Given the description of an element on the screen output the (x, y) to click on. 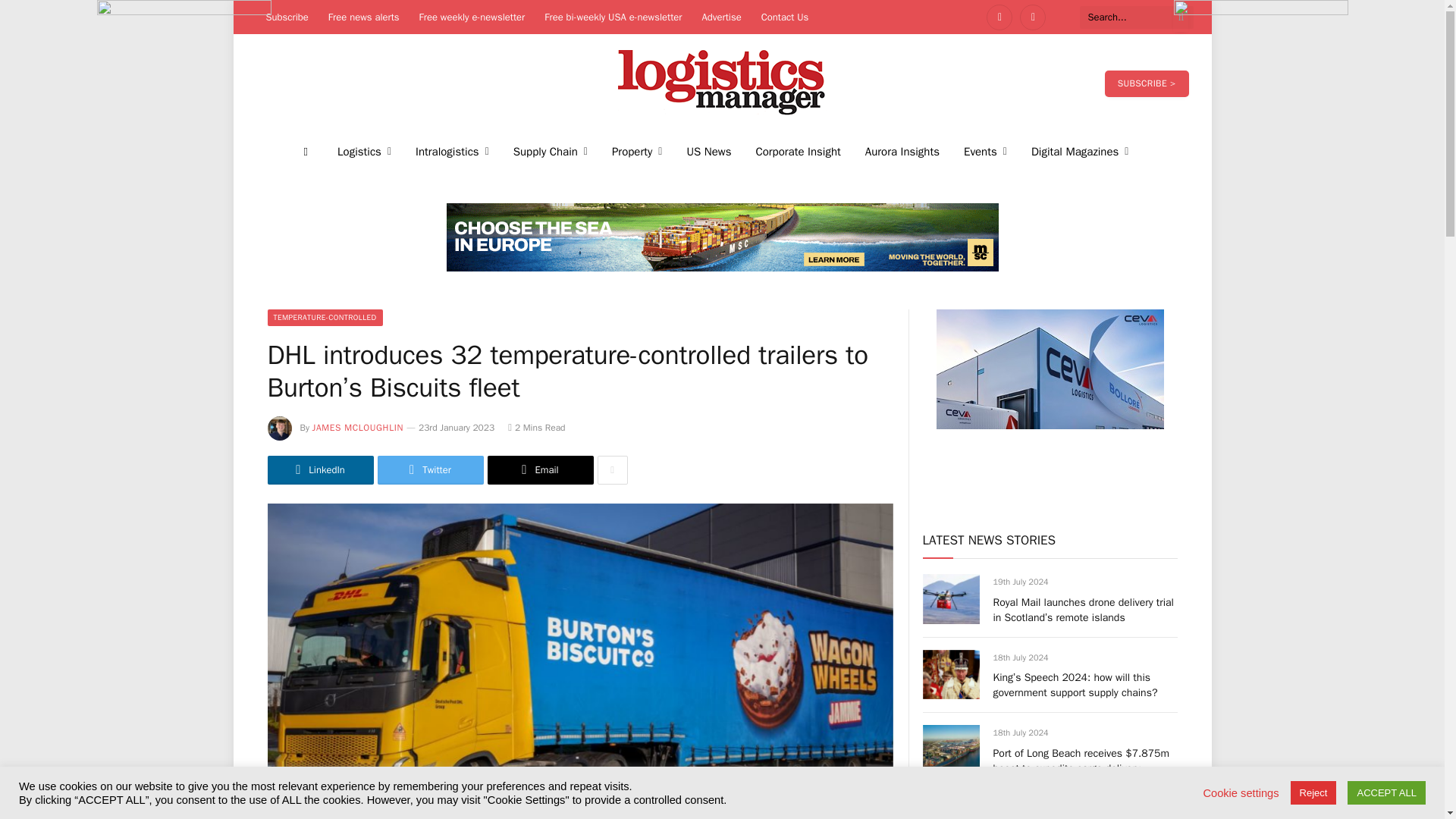
Logistics Manager (722, 83)
Posts by James McLoughlin (358, 427)
Share on LinkedIn (319, 469)
Share via Email (539, 469)
Show More Social Sharing (611, 469)
